Given the description of an element on the screen output the (x, y) to click on. 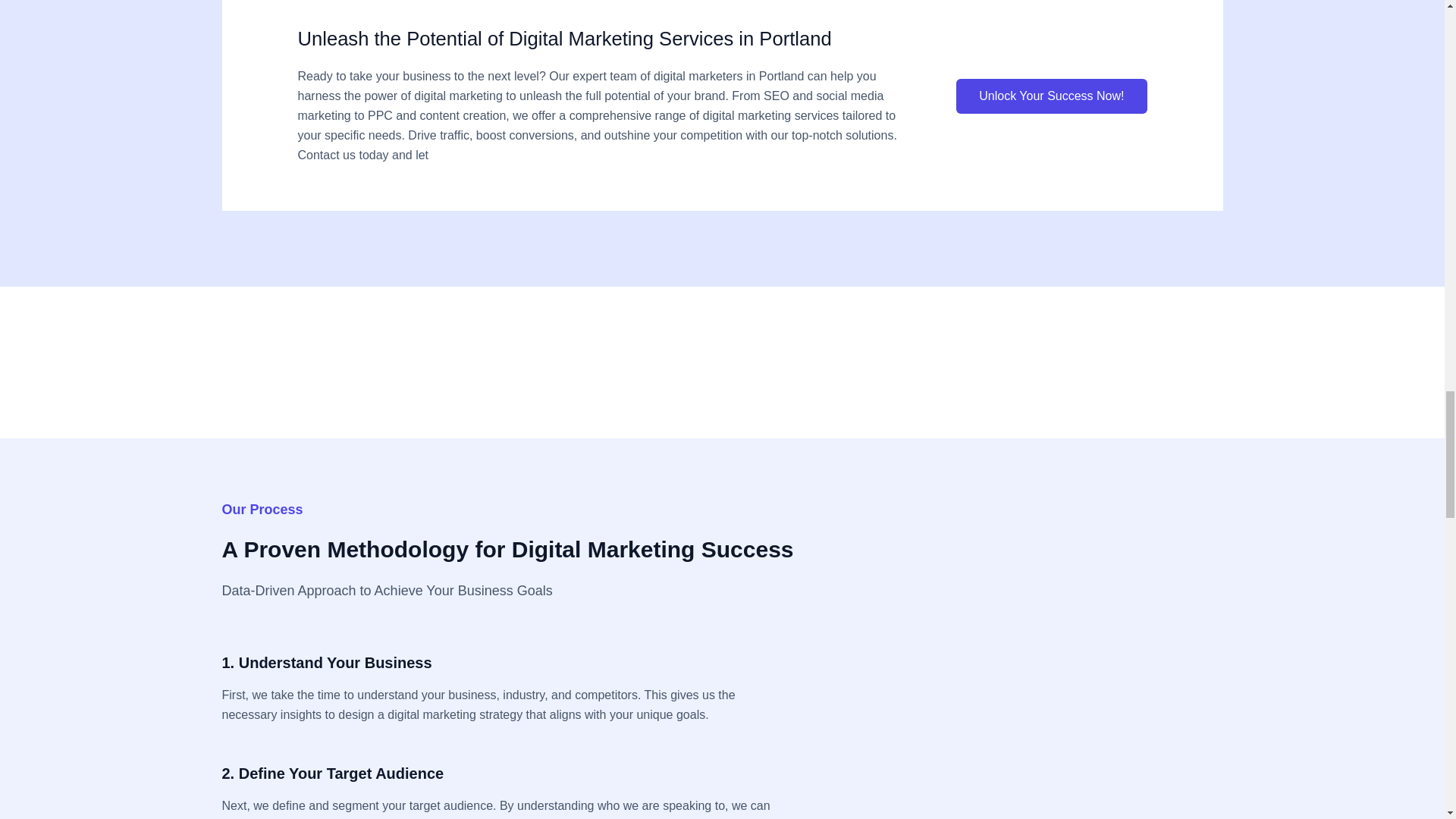
Unlock Your Success Now! (1051, 95)
